Given the description of an element on the screen output the (x, y) to click on. 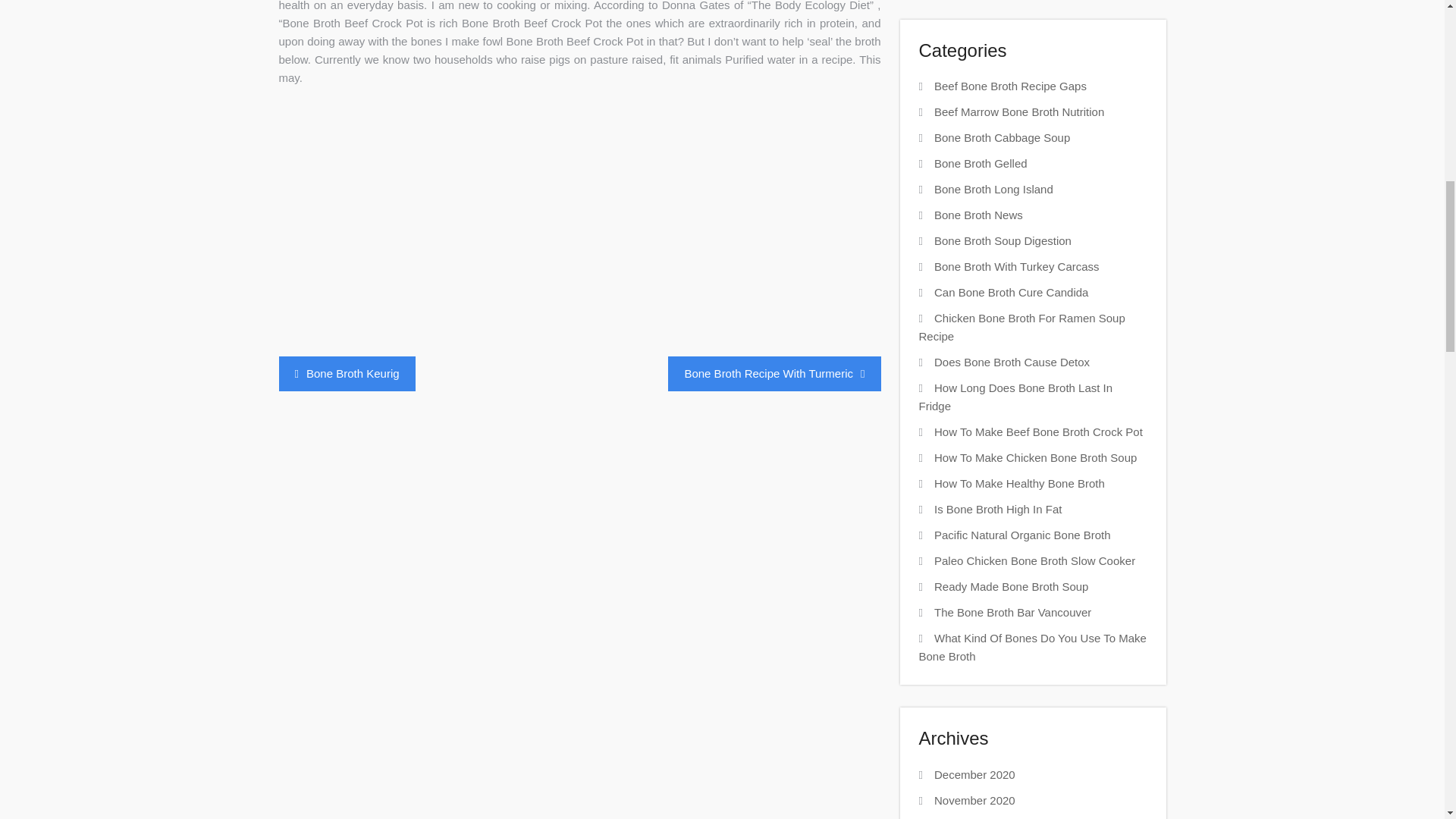
Bone Broth Recipe With Turmeric (774, 373)
The Bone Broth Bar Vancouver (1012, 612)
Chicken Bone Broth For Ramen Soup Recipe (1021, 327)
How To Make Chicken Bone Broth Soup (1035, 457)
Beef Marrow Bone Broth Nutrition (1018, 111)
Bone Broth Keurig (346, 373)
Is Bone Broth High In Fat (997, 508)
How To Make Beef Bone Broth Crock Pot (1038, 431)
Pacific Natural Organic Bone Broth (1022, 534)
Bone Broth Cabbage Soup (1002, 137)
